Given the description of an element on the screen output the (x, y) to click on. 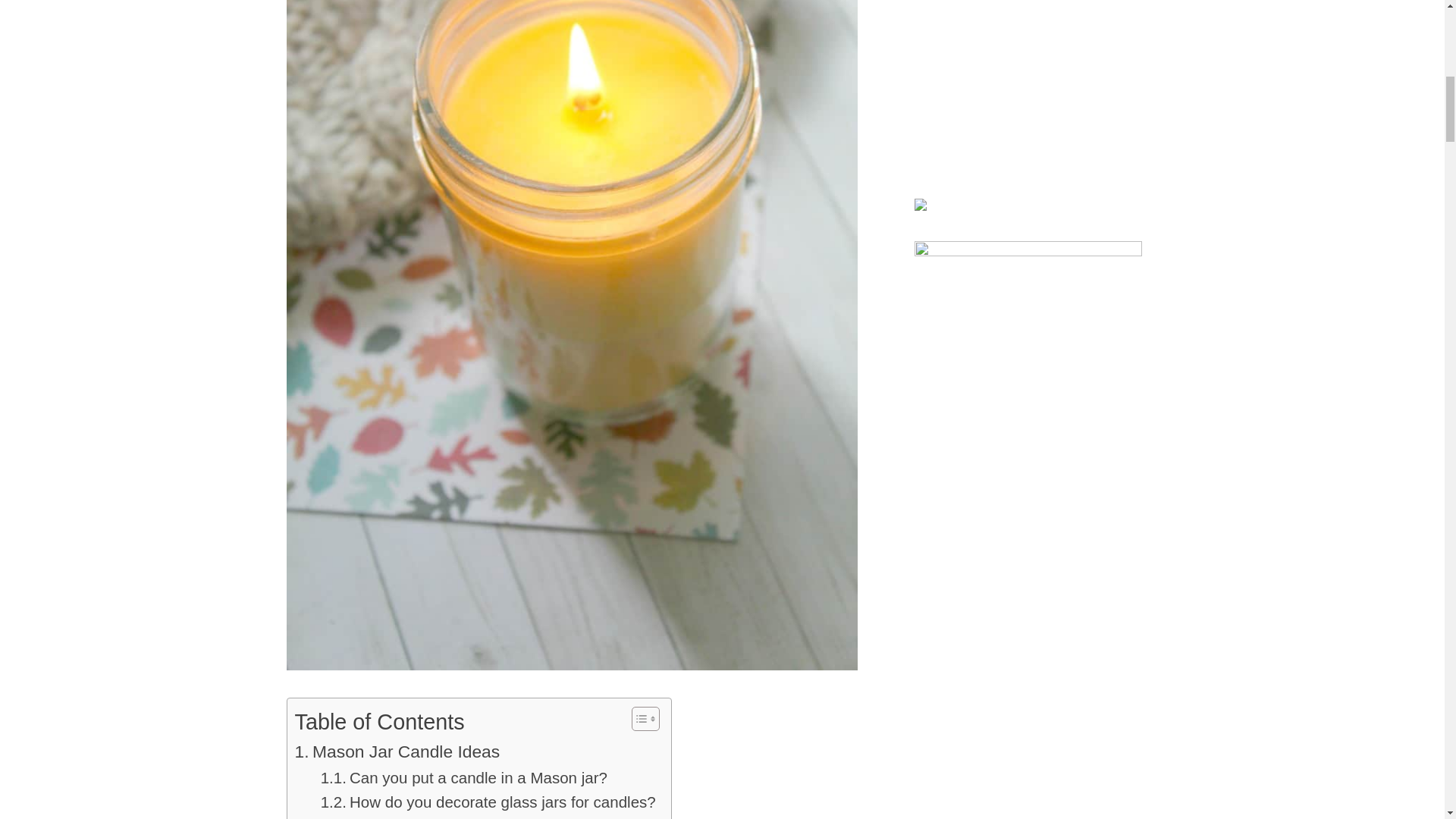
What does ylang ylang smell like? (451, 816)
How do you decorate glass jars for candles? (488, 802)
Mason Jar Candle Ideas (396, 750)
Can you put a candle in a Mason jar? (463, 778)
